Given the description of an element on the screen output the (x, y) to click on. 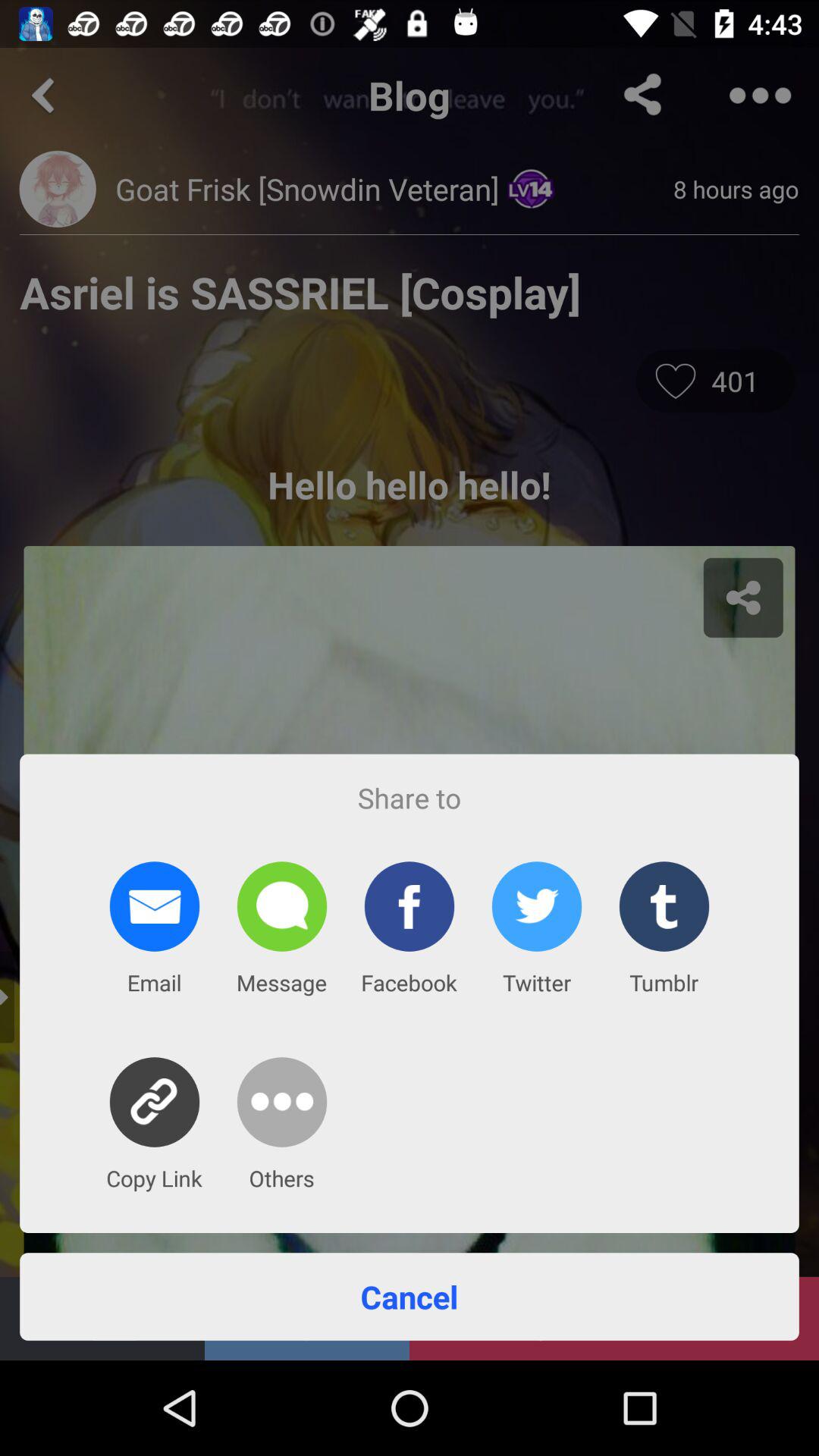
jump until cancel icon (409, 1296)
